Given the description of an element on the screen output the (x, y) to click on. 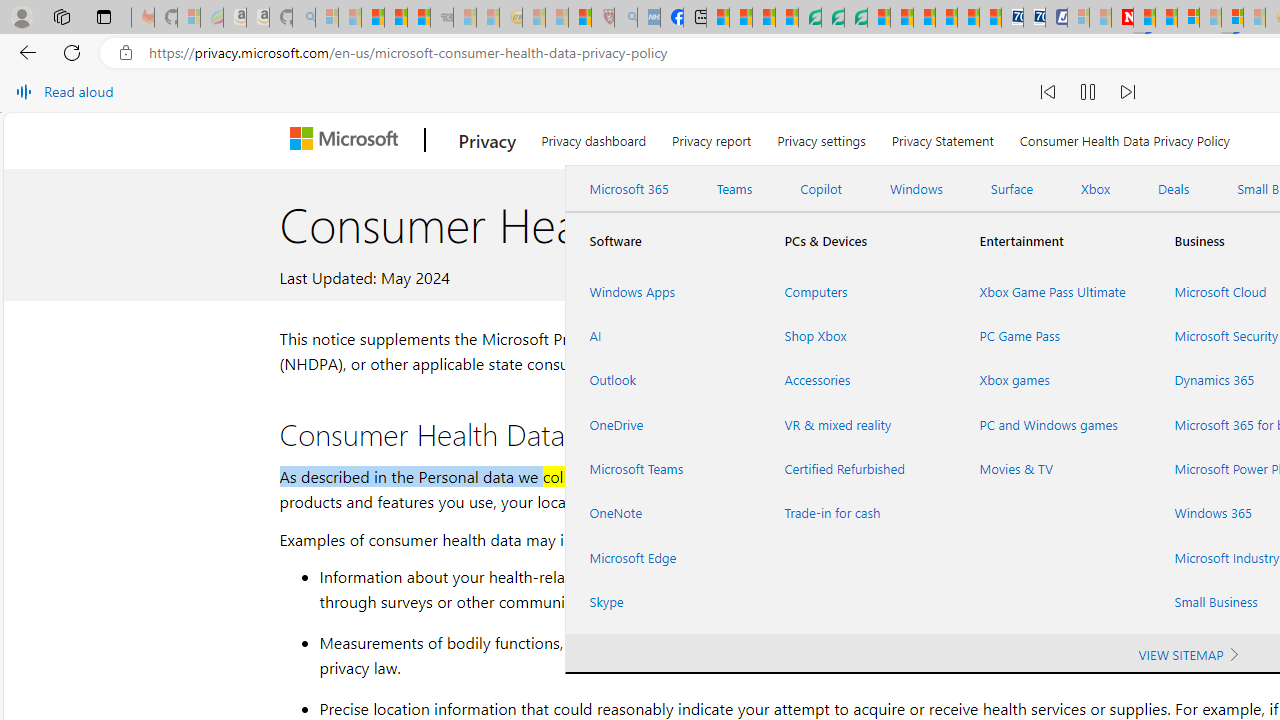
AI (662, 336)
OneDrive (662, 424)
Privacy dashboard (593, 137)
Certified Refurbished (858, 468)
Teams (734, 189)
Deals (1173, 189)
Xbox (1095, 189)
Cheap Hotels - Save70.com (1034, 17)
Microsoft Word - consumer-privacy address update 2.2021 (855, 17)
Trade-in for cash (858, 513)
